Given the description of an element on the screen output the (x, y) to click on. 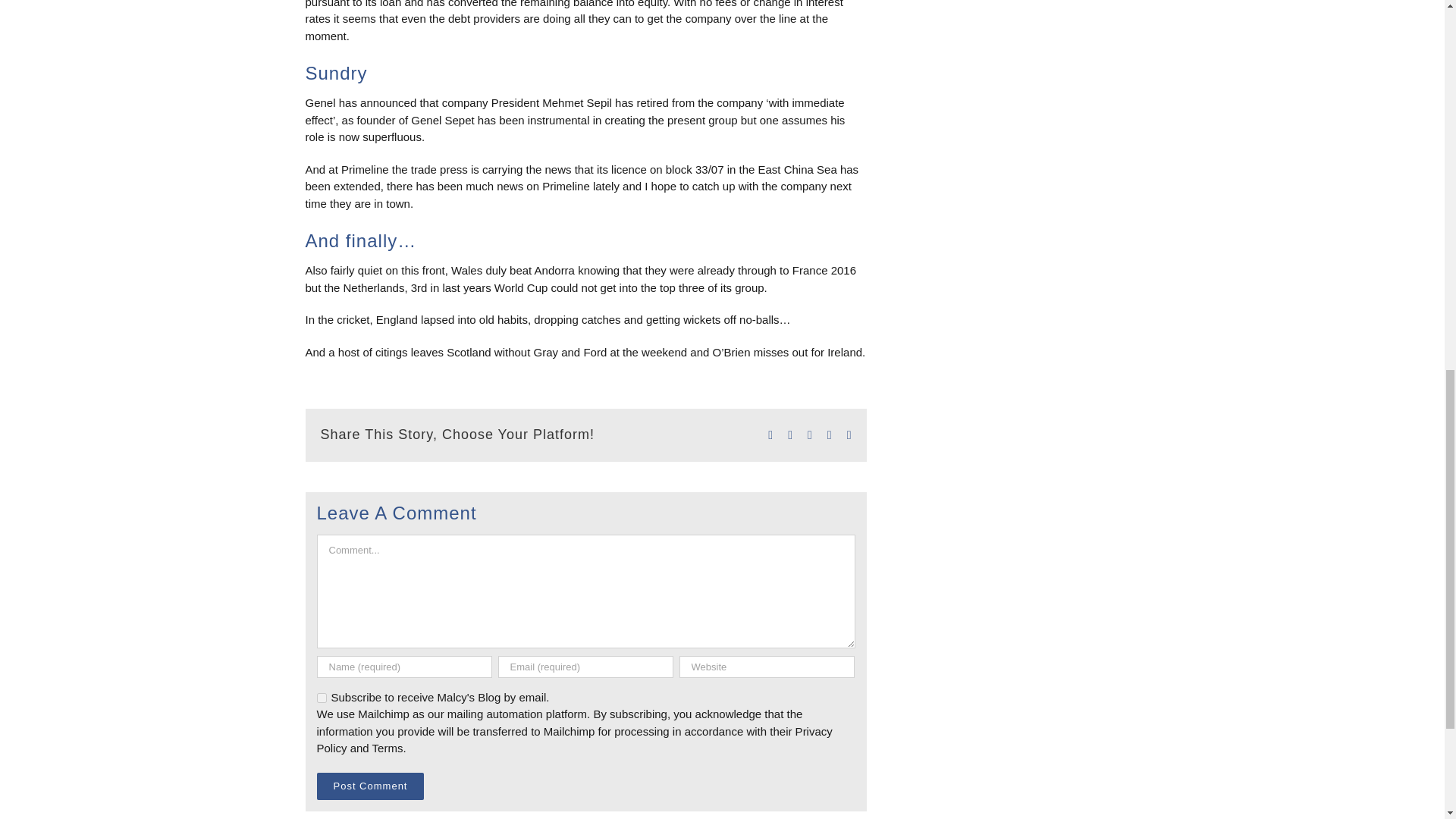
Post Comment (371, 785)
1 (321, 697)
Post Comment (371, 785)
